Given the description of an element on the screen output the (x, y) to click on. 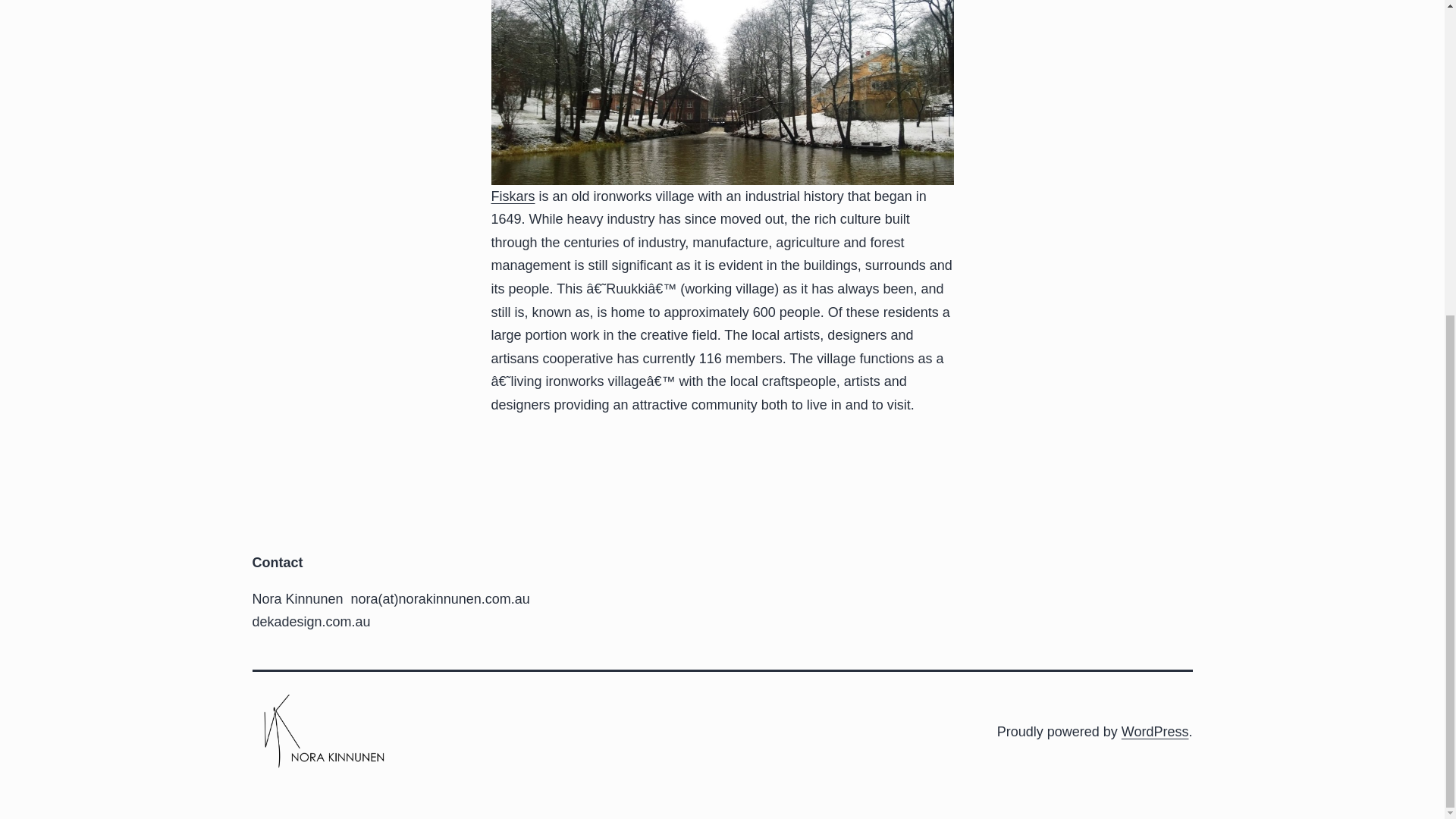
WordPress (1155, 731)
Fiskars (513, 196)
Fiskars Village (513, 196)
